Given the description of an element on the screen output the (x, y) to click on. 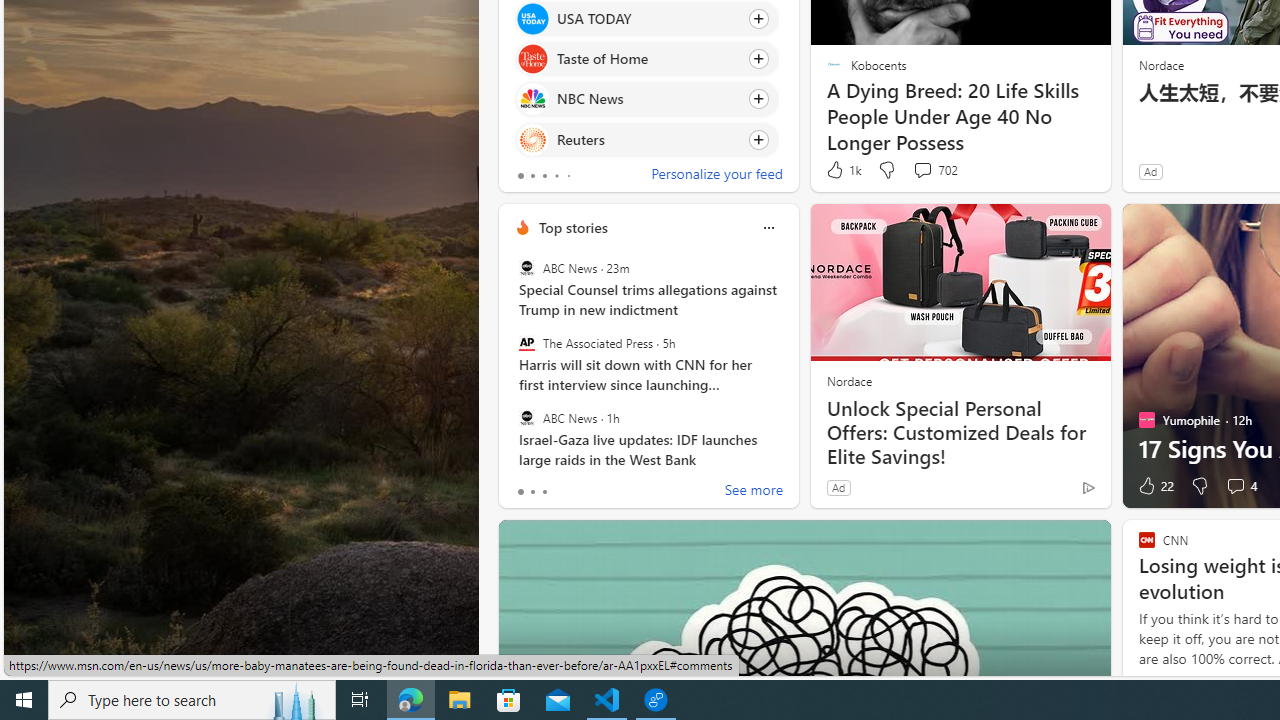
Reuters (532, 139)
The Associated Press (526, 343)
ABC News (526, 417)
Class: icon-img (768, 228)
tab-3 (556, 175)
View comments 4 Comment (1240, 485)
Dislike (1199, 485)
tab-0 (520, 491)
View comments 702 Comment (922, 169)
Click to follow source NBC News (646, 99)
tab-1 (532, 491)
Click to follow source Reuters (646, 138)
